Given the description of an element on the screen output the (x, y) to click on. 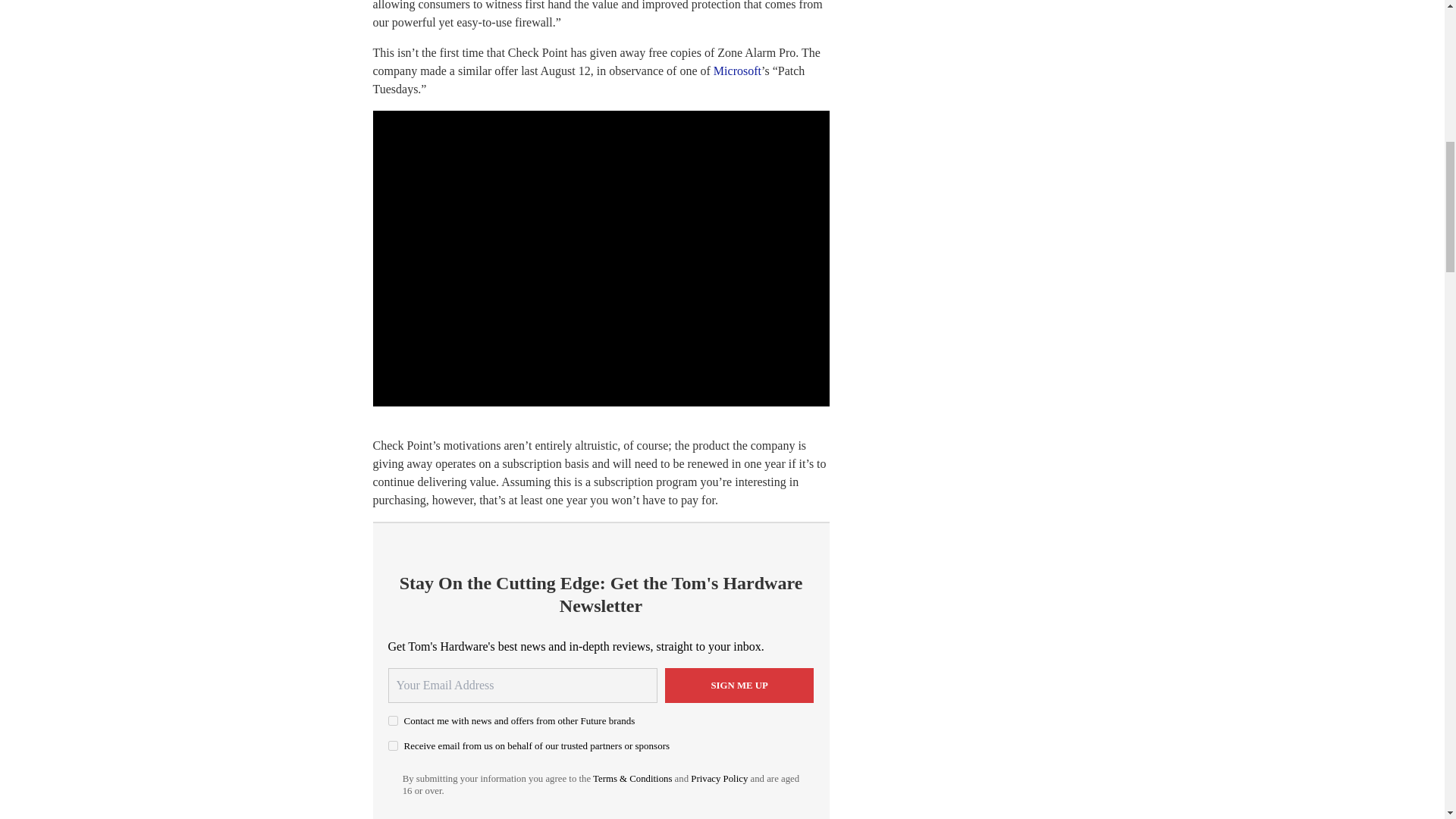
on (392, 746)
Sign me up (739, 685)
on (392, 720)
